Given the description of an element on the screen output the (x, y) to click on. 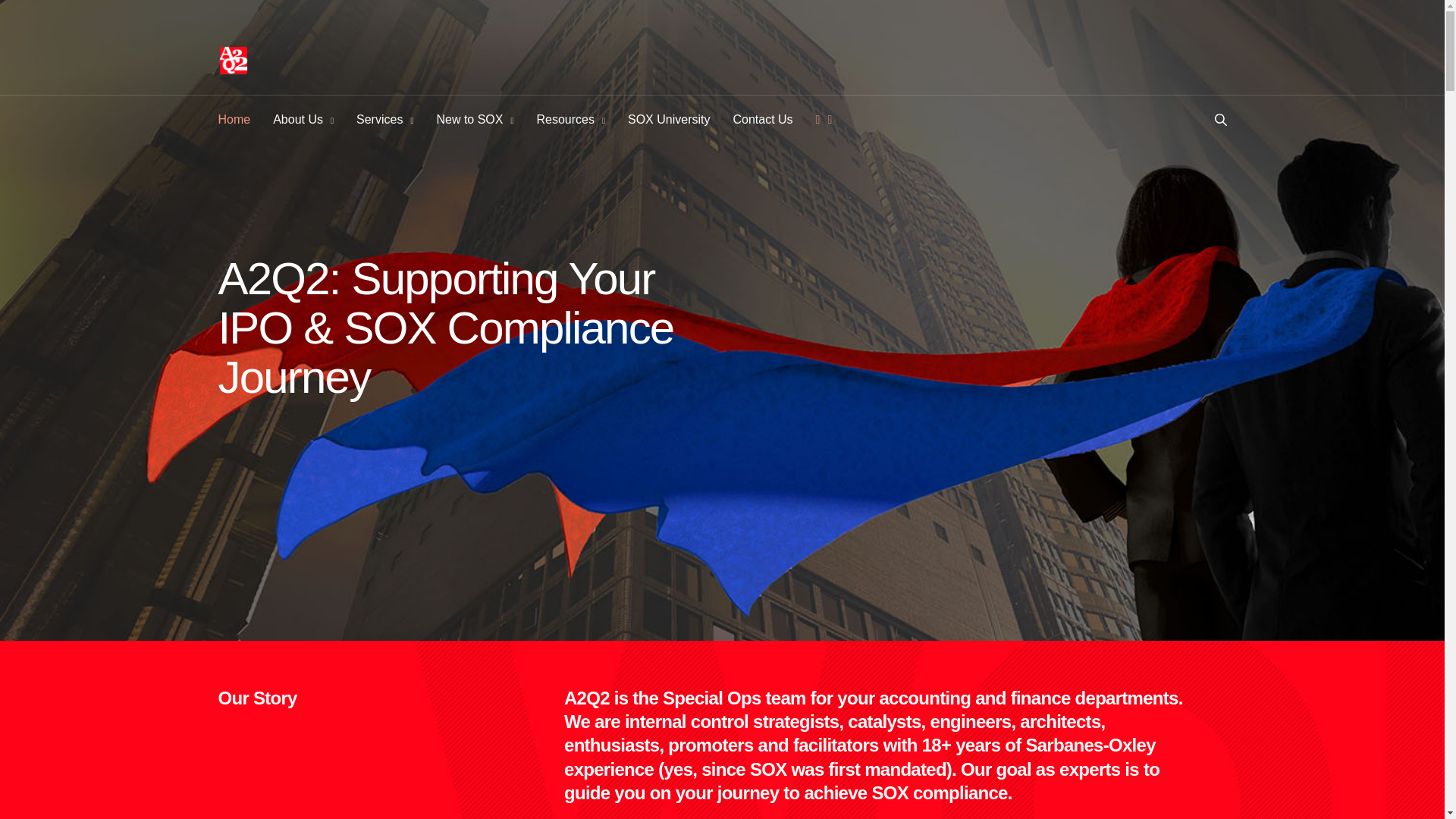
Services (384, 119)
About Us (303, 119)
A2Q2 (233, 60)
New to SOX (474, 119)
